Given the description of an element on the screen output the (x, y) to click on. 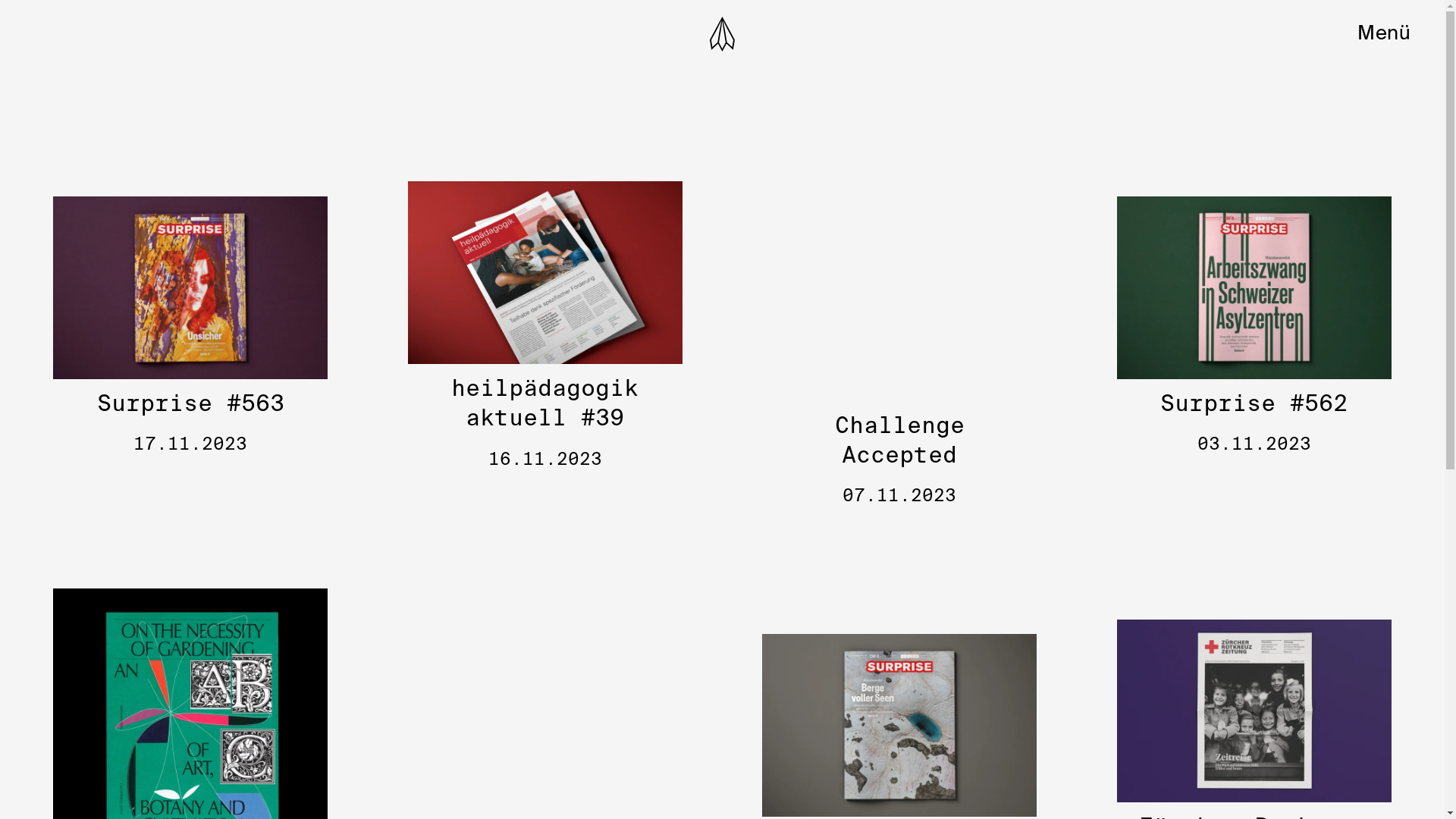
Challenge Accepted
07.11.2023 Element type: text (899, 326)
Surprise #562
03.11.2023 Element type: text (1254, 326)
Surprise #561 Element type: hover (899, 724)
Surprise #563
17.11.2023 Element type: text (190, 326)
Surprise #563 Element type: hover (190, 287)
Surprise #562 Element type: hover (1254, 287)
